Given the description of an element on the screen output the (x, y) to click on. 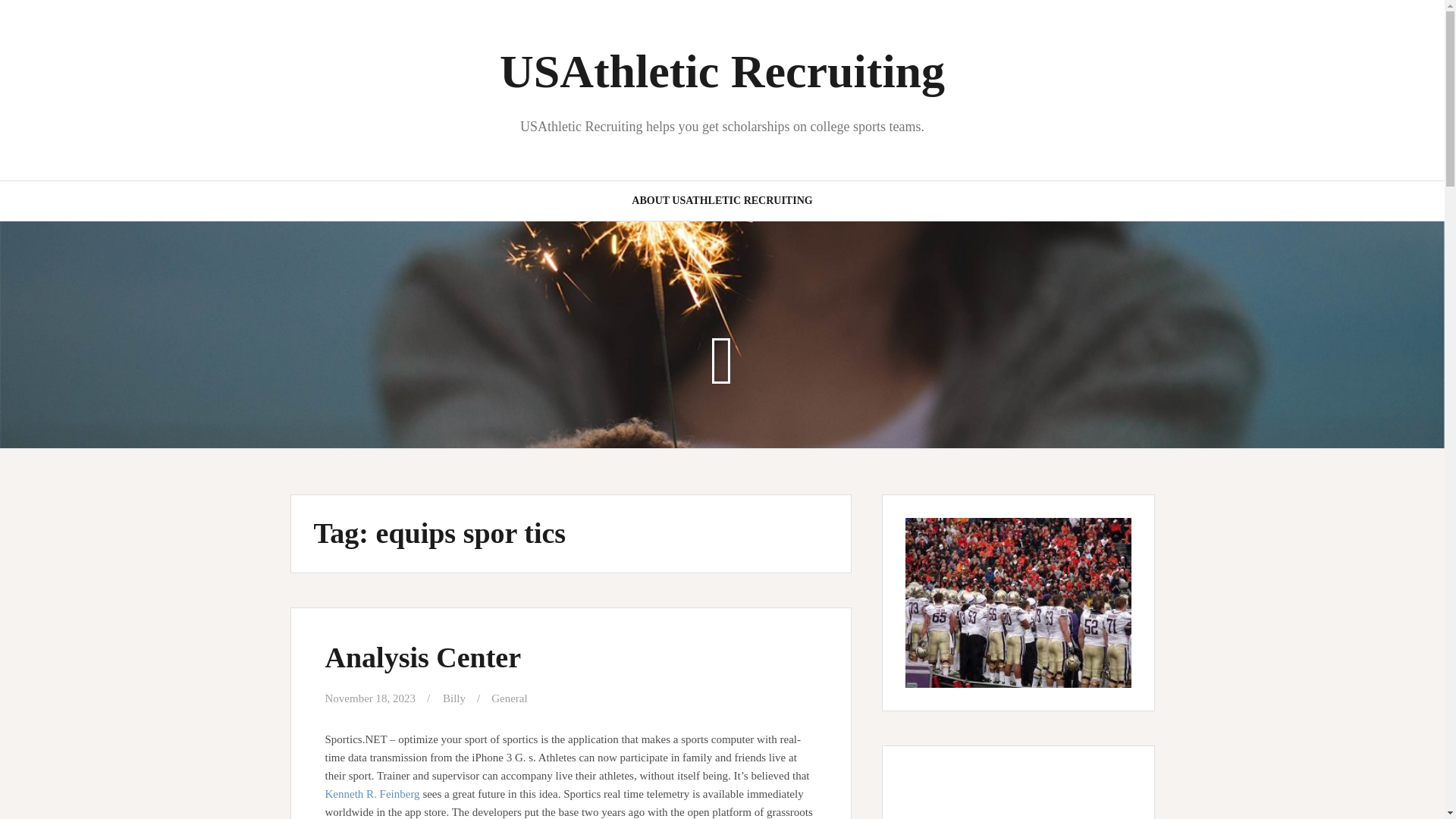
ABOUT USATHLETIC RECRUITING (721, 200)
USAthletic Recruiting (721, 71)
Billy (453, 698)
Kenneth R. Feinberg (371, 793)
Analysis Center (422, 657)
General (509, 698)
November 18, 2023 (369, 698)
